Given the description of an element on the screen output the (x, y) to click on. 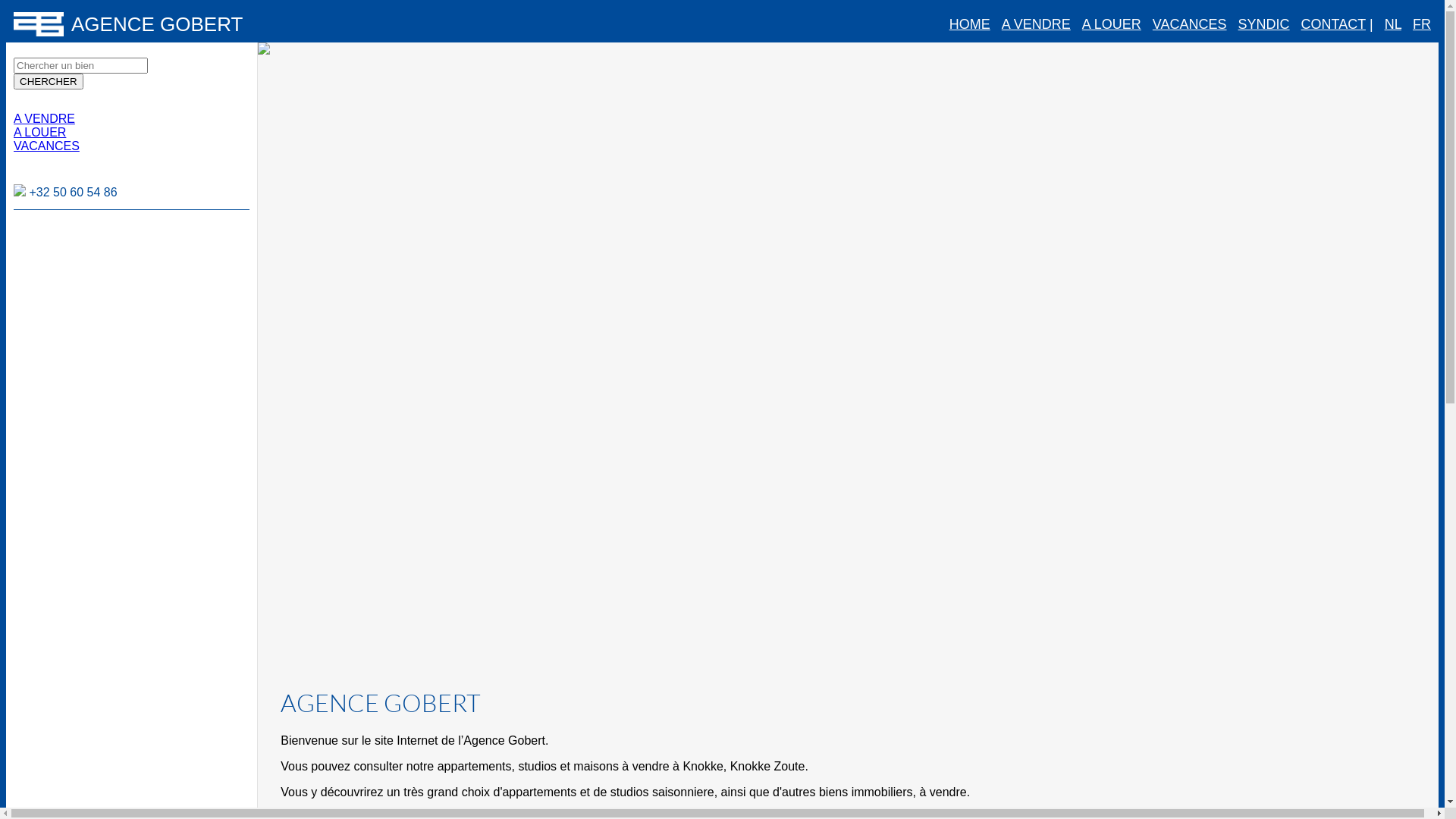
A VENDRE Element type: text (1035, 23)
A VENDRE Element type: text (44, 118)
NL Element type: text (1392, 23)
FR Element type: text (1421, 23)
VACANCES Element type: text (1189, 23)
A LOUER Element type: text (39, 131)
A LOUER Element type: text (1111, 23)
VACANCES Element type: text (46, 145)
SYNDIC Element type: text (1263, 23)
HOME Element type: text (969, 23)
CONTACT Element type: text (1333, 23)
CHERCHER Element type: text (48, 81)
